Given the description of an element on the screen output the (x, y) to click on. 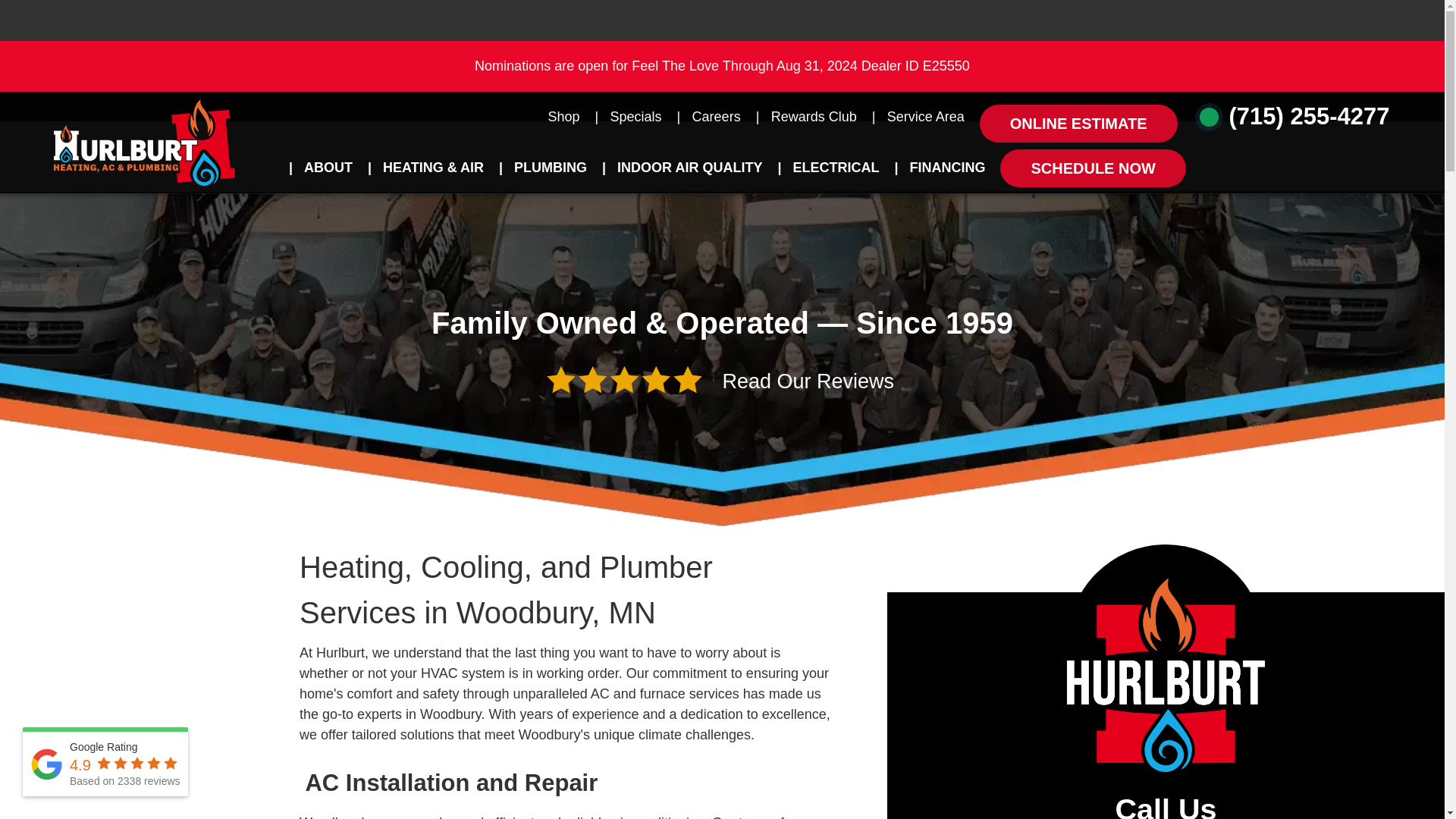
Specials (636, 116)
ONLINE ESTIMATE (1078, 123)
Shop (563, 116)
ABOUT (328, 167)
Service Area (925, 116)
Careers (716, 116)
Rewards Club (813, 116)
